Given the description of an element on the screen output the (x, y) to click on. 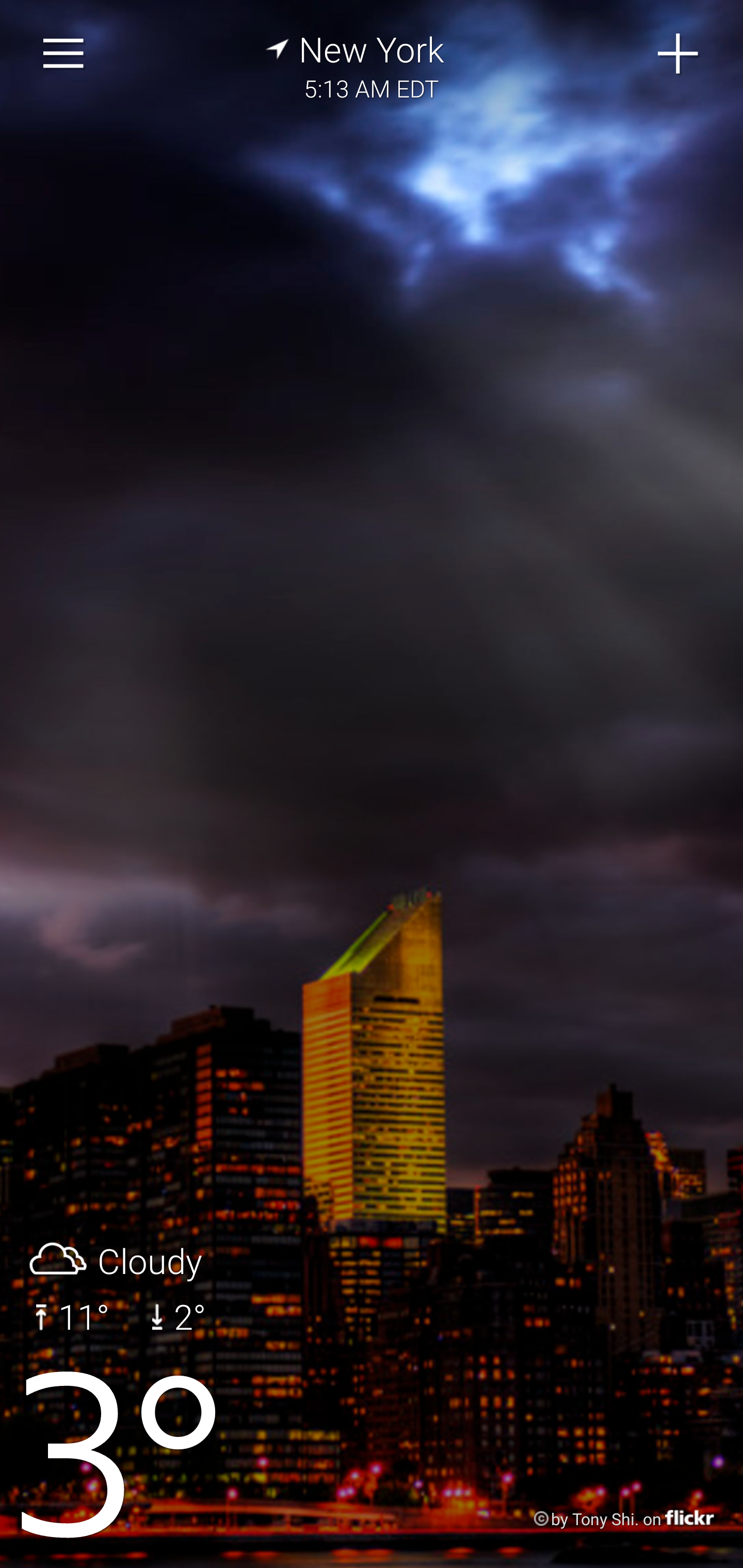
Sidebar (64, 54)
Add City (678, 53)
